Given the description of an element on the screen output the (x, y) to click on. 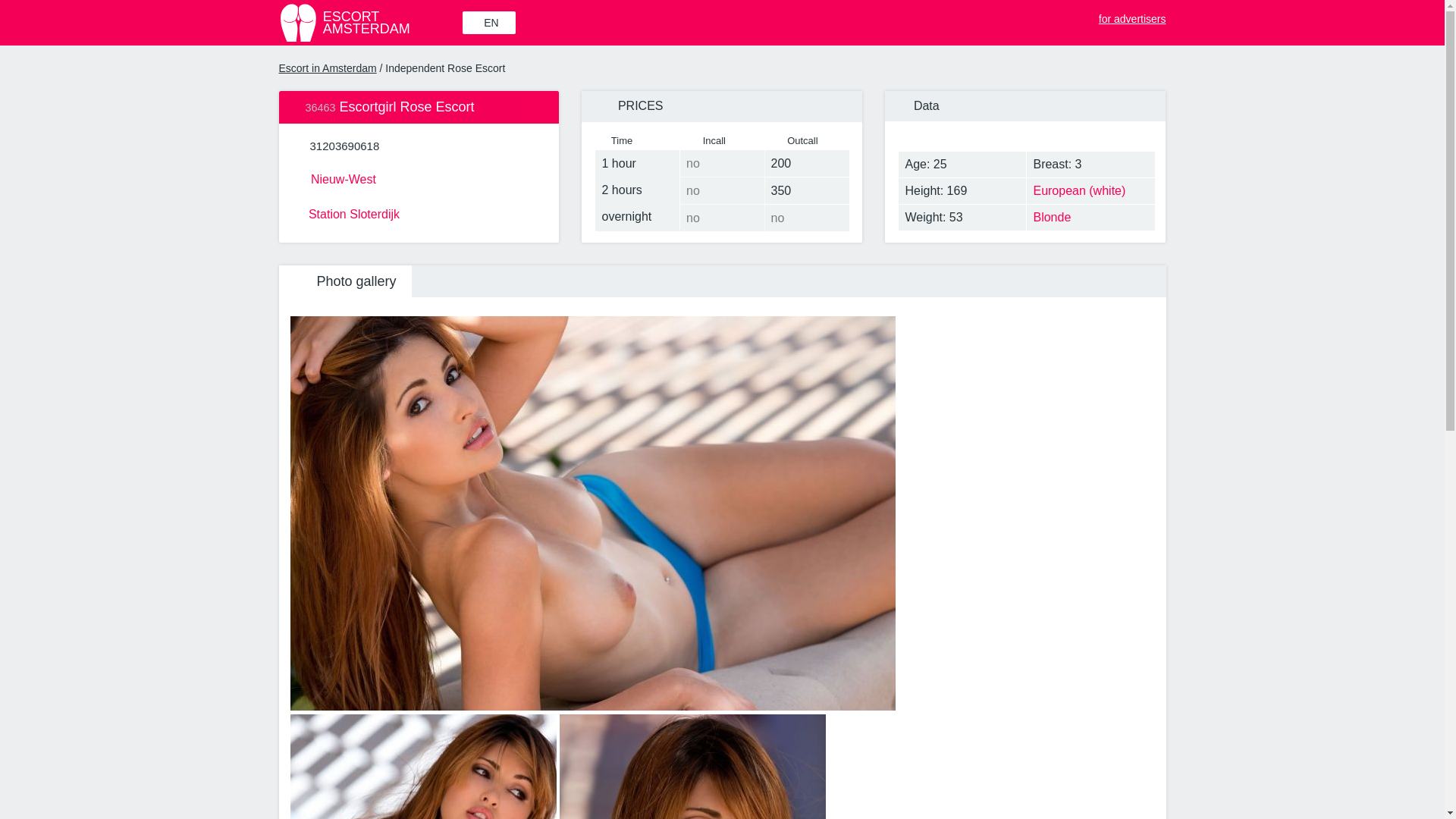
Station Sloterdijk (418, 212)
Nieuw-West (418, 177)
31203690618 (369, 22)
for advertisers (345, 145)
Photo gallery (1123, 15)
Escort in Amsterdam (345, 281)
